Given the description of an element on the screen output the (x, y) to click on. 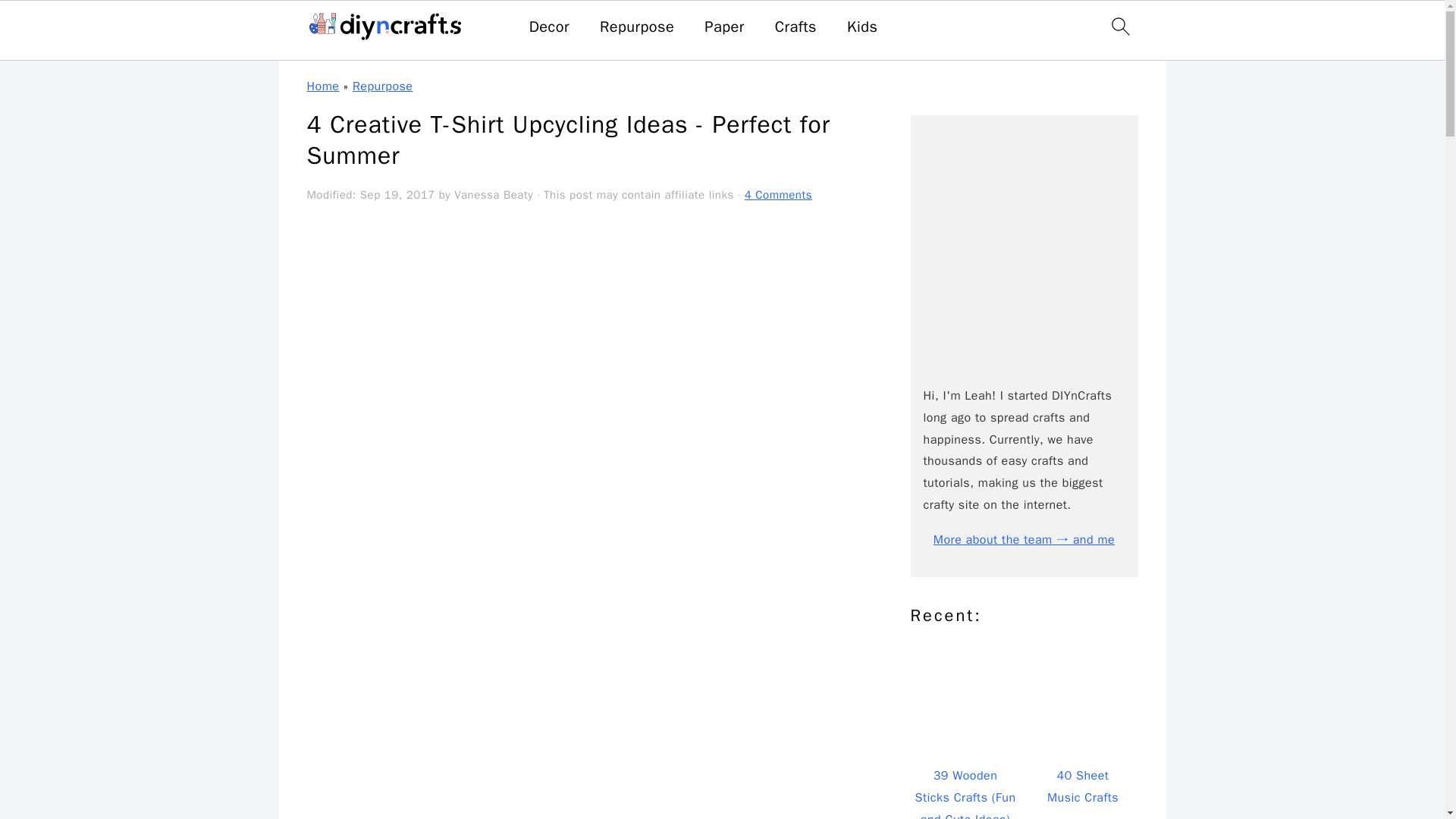
Decor (549, 27)
search icon (1119, 26)
